Given the description of an element on the screen output the (x, y) to click on. 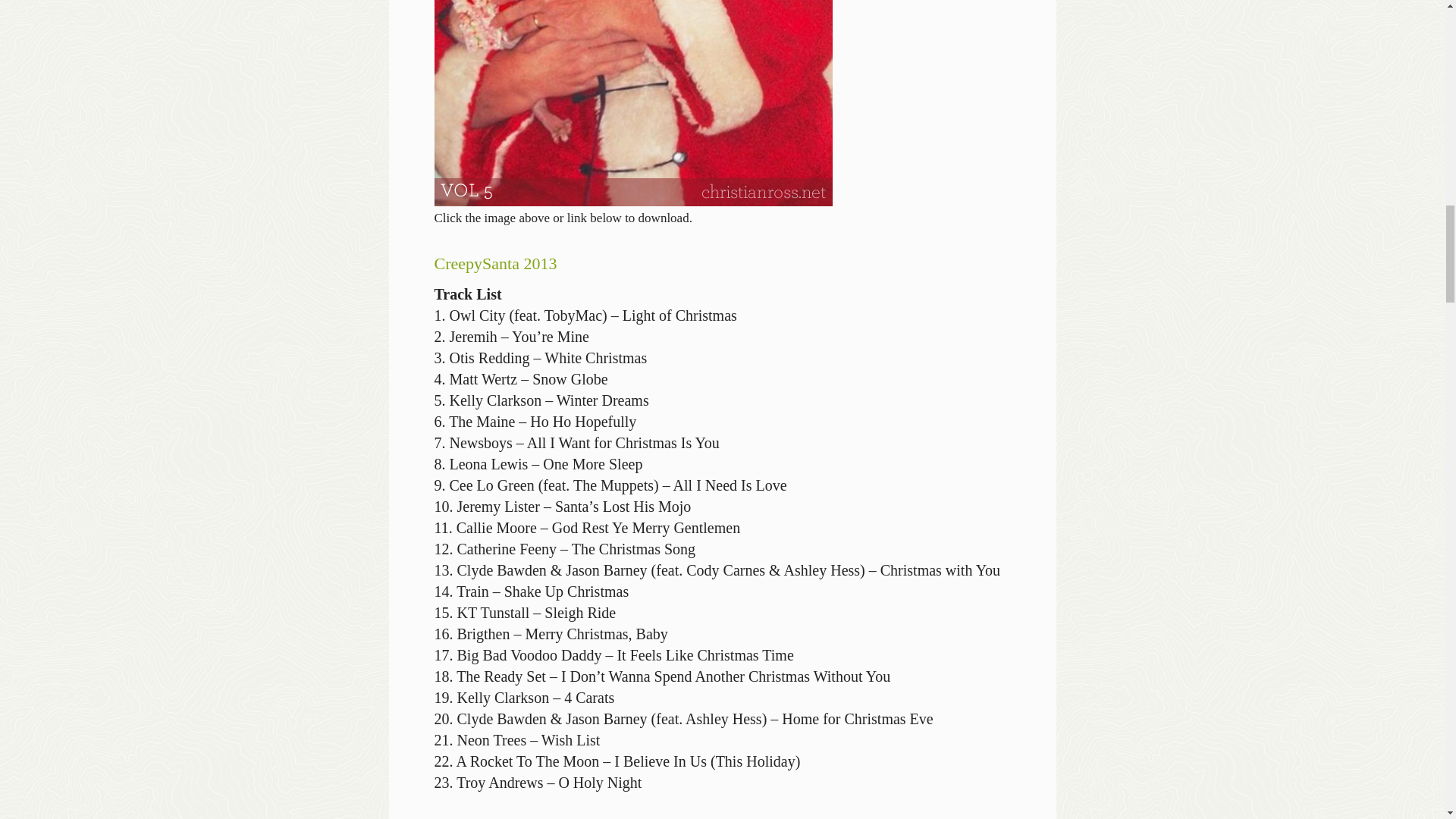
CreepySanta 2013 (494, 262)
